Given the description of an element on the screen output the (x, y) to click on. 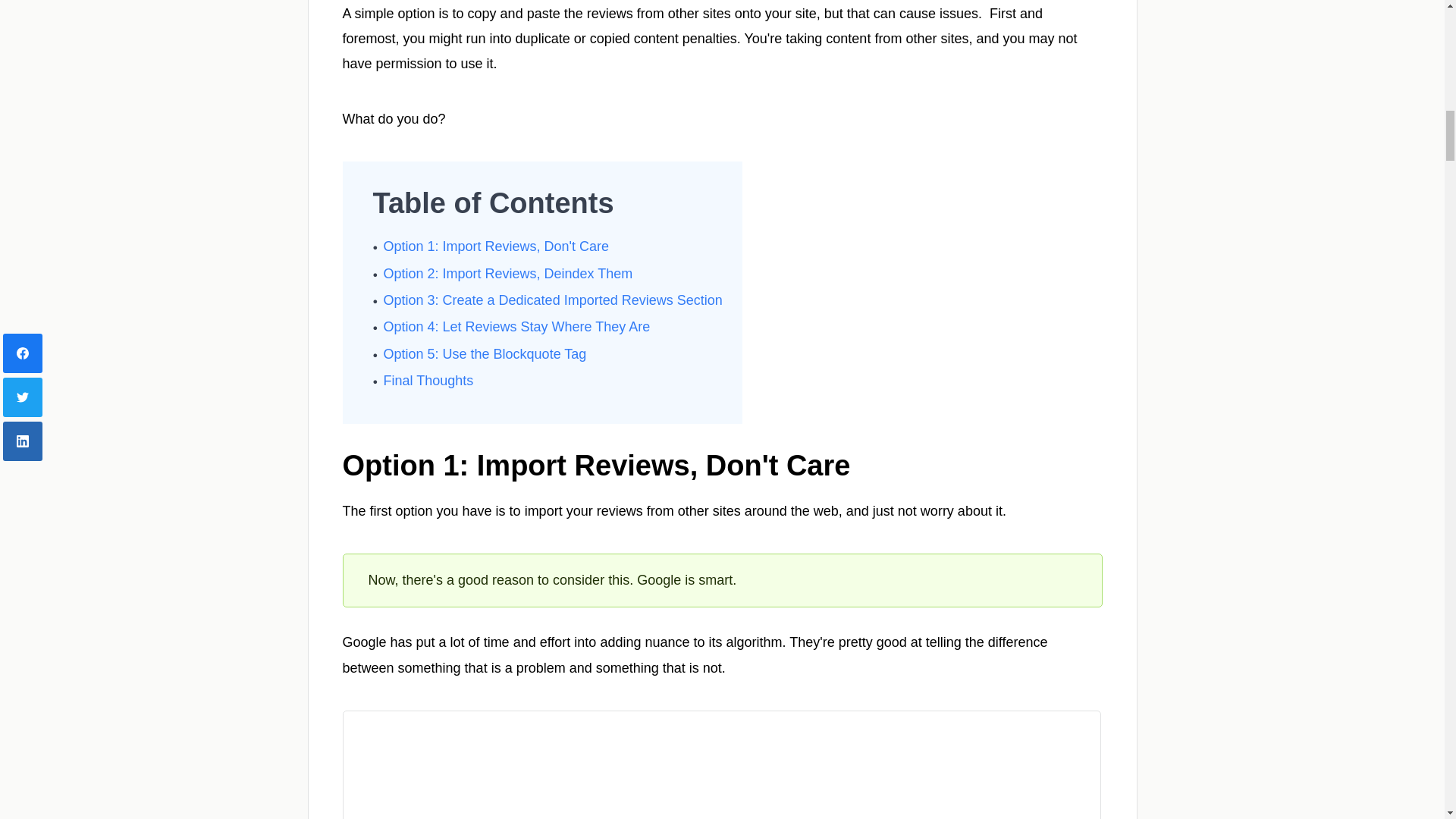
Option 1: Import Reviews, Don't Care (497, 246)
Option 4: Let Reviews Stay Where They Are (517, 326)
Option 2: Import Reviews, Deindex Them (508, 273)
Option 5: Use the Blockquote Tag (485, 353)
Final Thoughts (429, 380)
Option 3: Create a Dedicated Imported Reviews Section (553, 299)
